Given the description of an element on the screen output the (x, y) to click on. 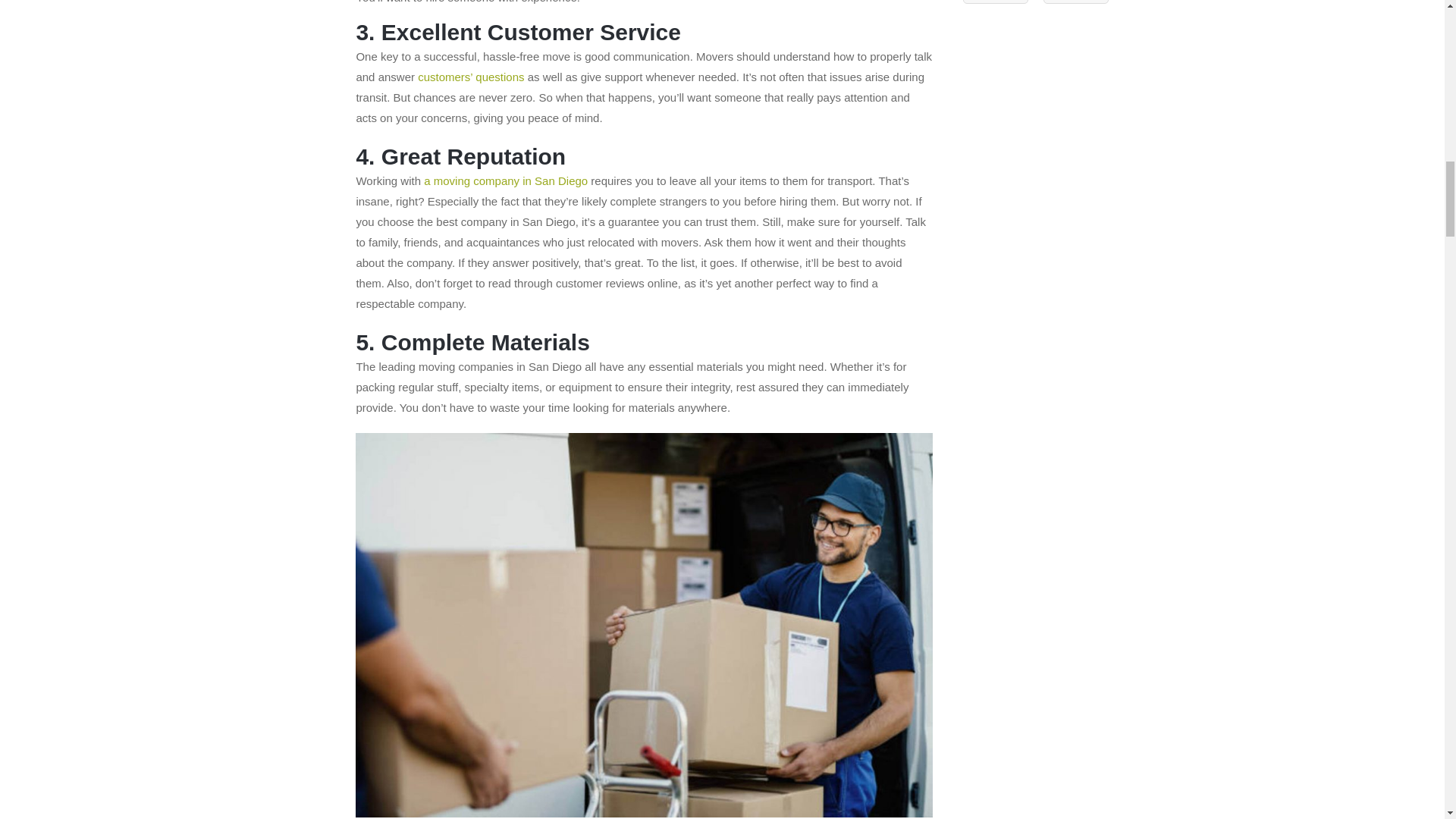
a moving company in San Diego (505, 180)
Share it on Email (1075, 2)
Share on LinkedIn (994, 2)
